Given the description of an element on the screen output the (x, y) to click on. 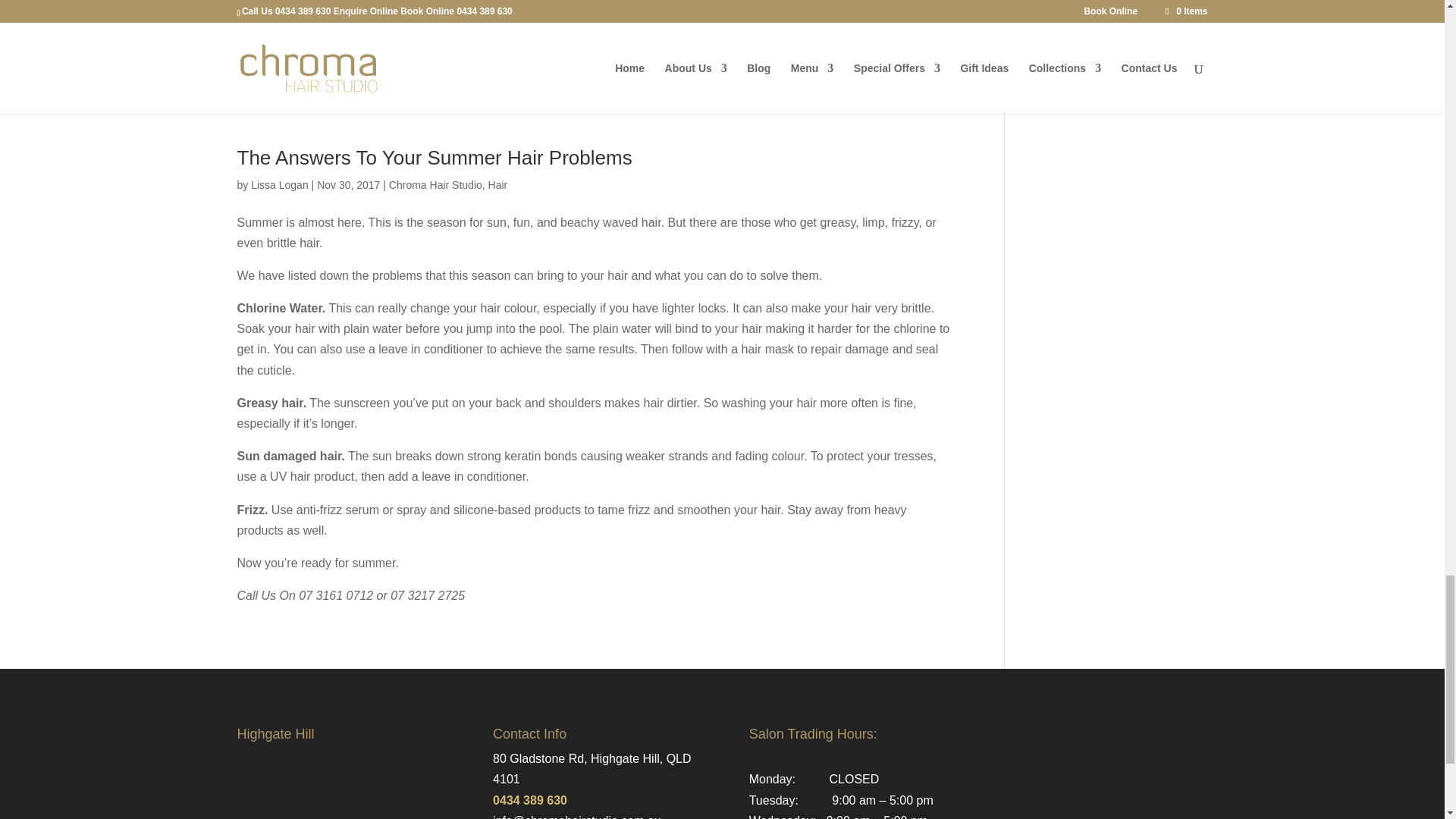
Posts by Lissa Logan (279, 184)
